Given the description of an element on the screen output the (x, y) to click on. 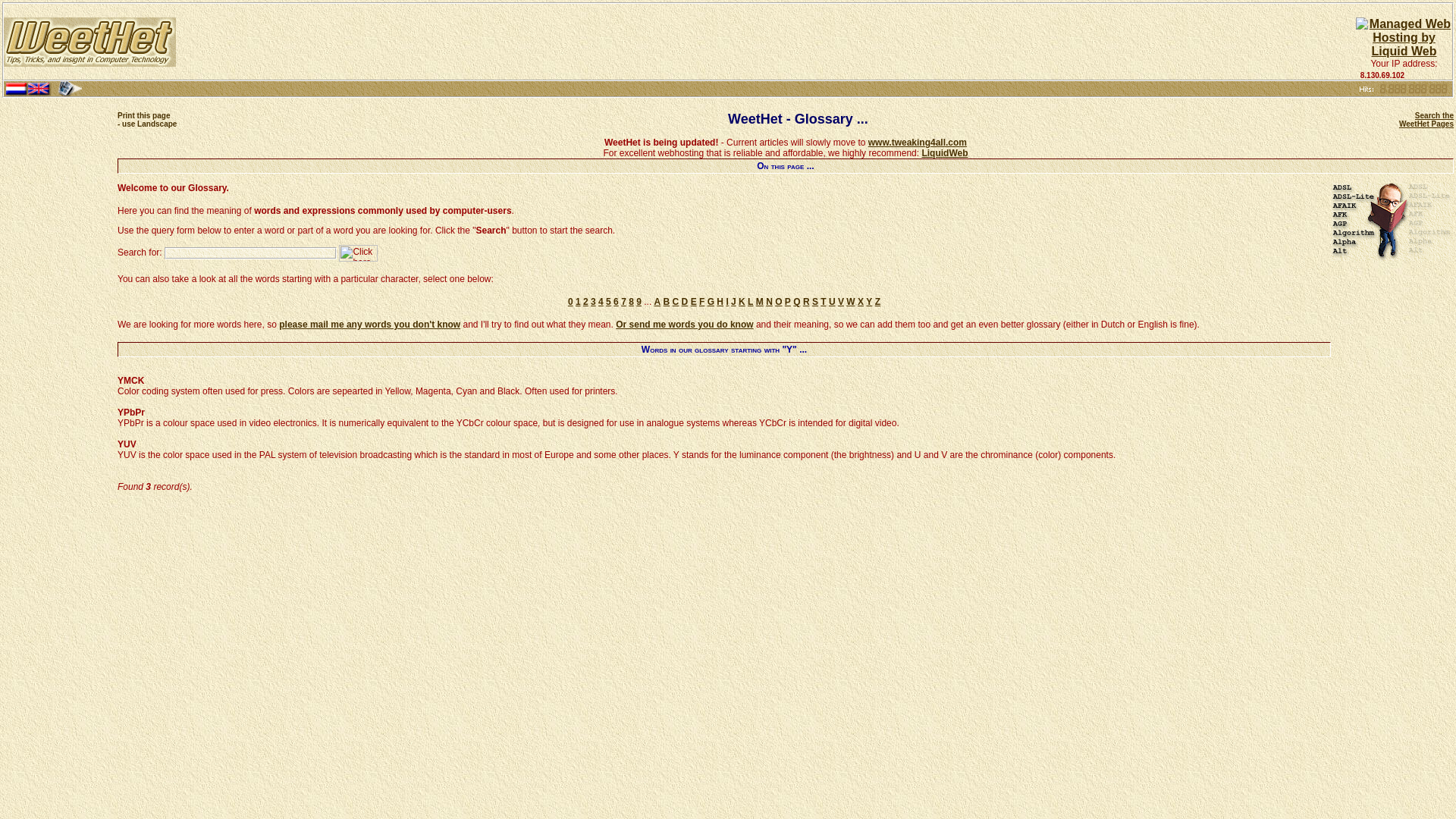
We're moving ... (916, 142)
Advertisement (1064, 586)
Click here to start the search (358, 252)
www.tweaking4all.com (146, 119)
Advertisement (1426, 119)
Advertisement (916, 142)
LiquidWeb (506, 586)
